Given the description of an element on the screen output the (x, y) to click on. 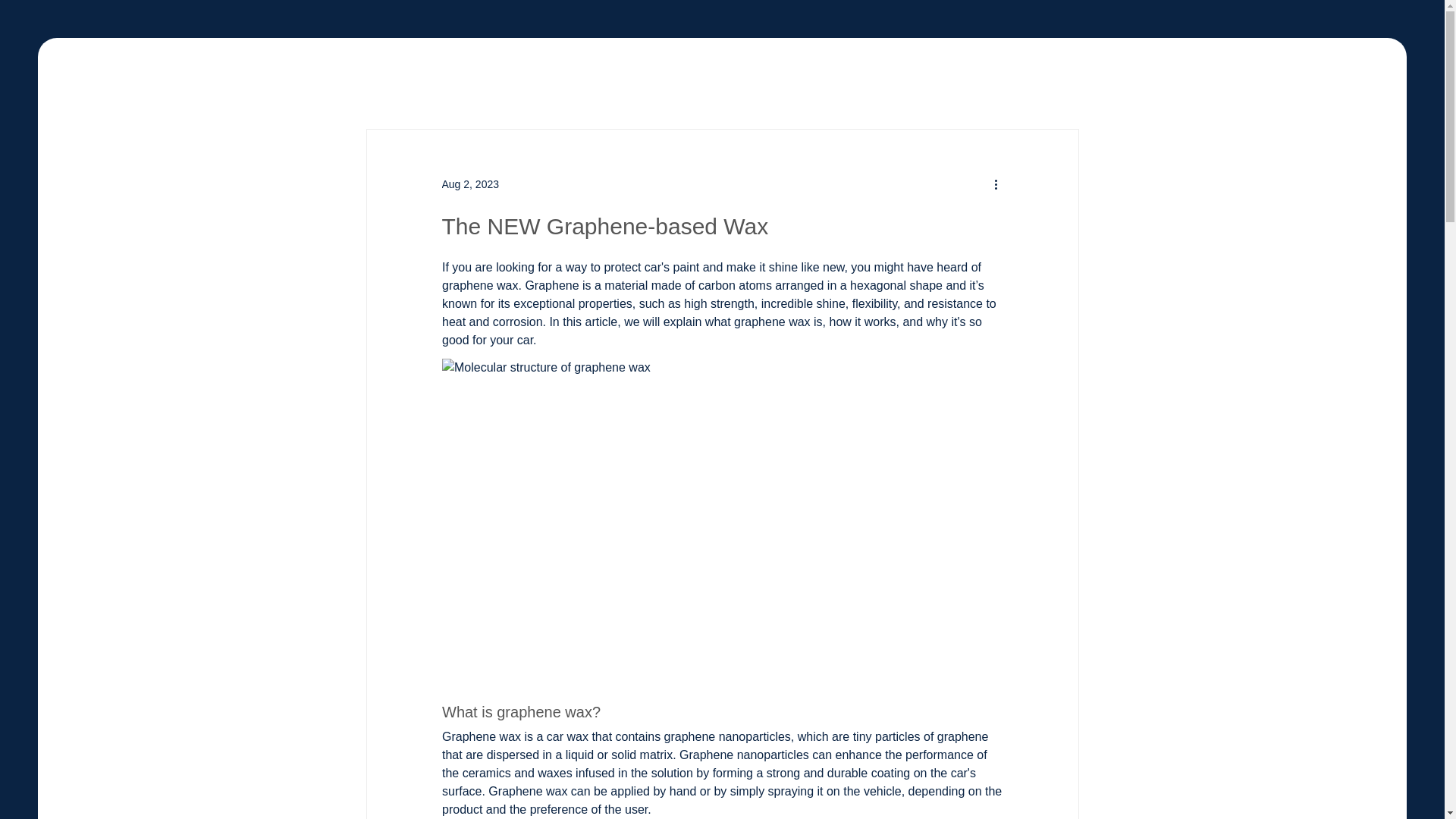
Aug 2, 2023 (470, 183)
